Given the description of an element on the screen output the (x, y) to click on. 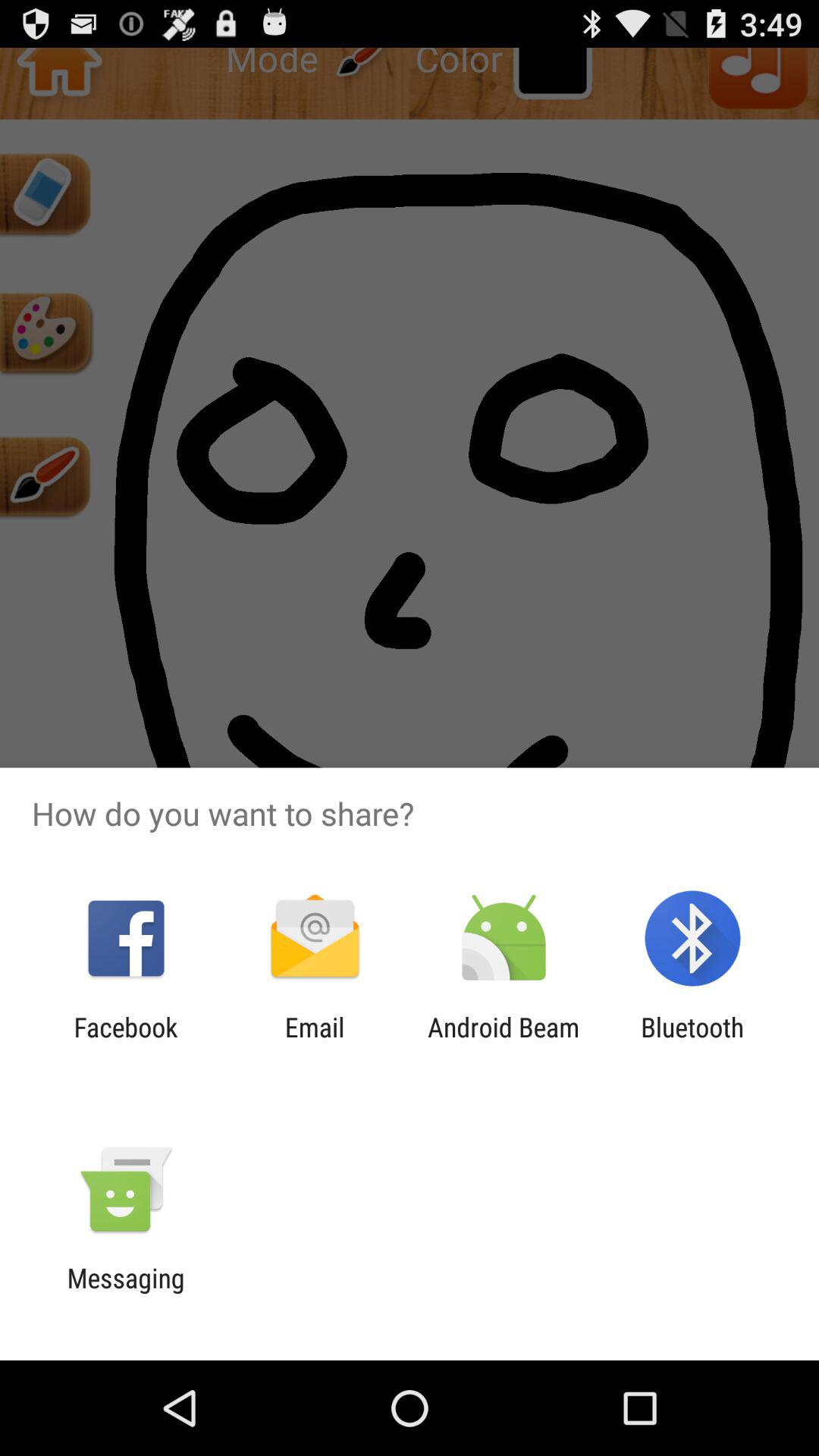
swipe to email app (314, 1042)
